Given the description of an element on the screen output the (x, y) to click on. 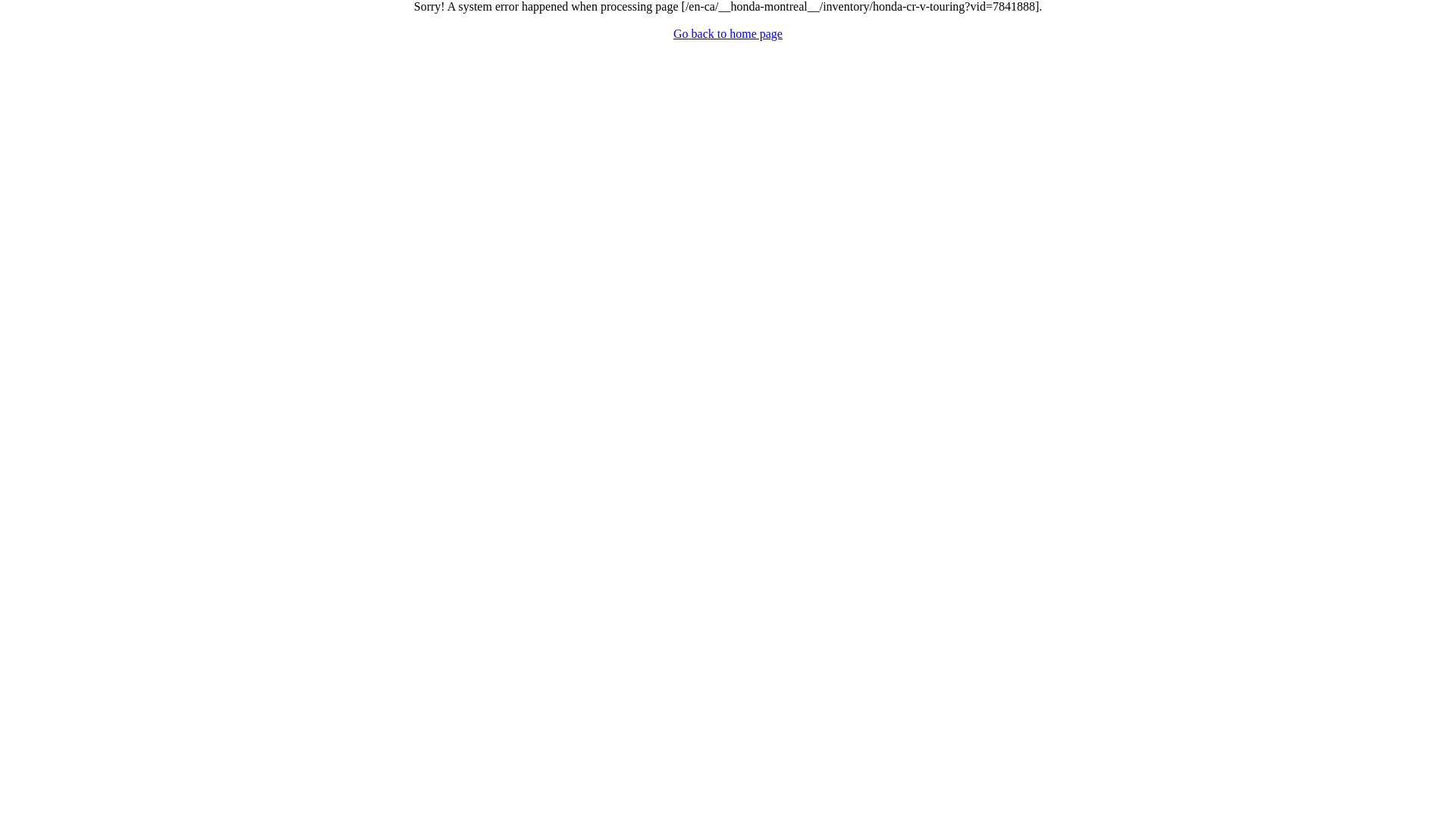
Go back to home page Element type: text (727, 33)
